Given the description of an element on the screen output the (x, y) to click on. 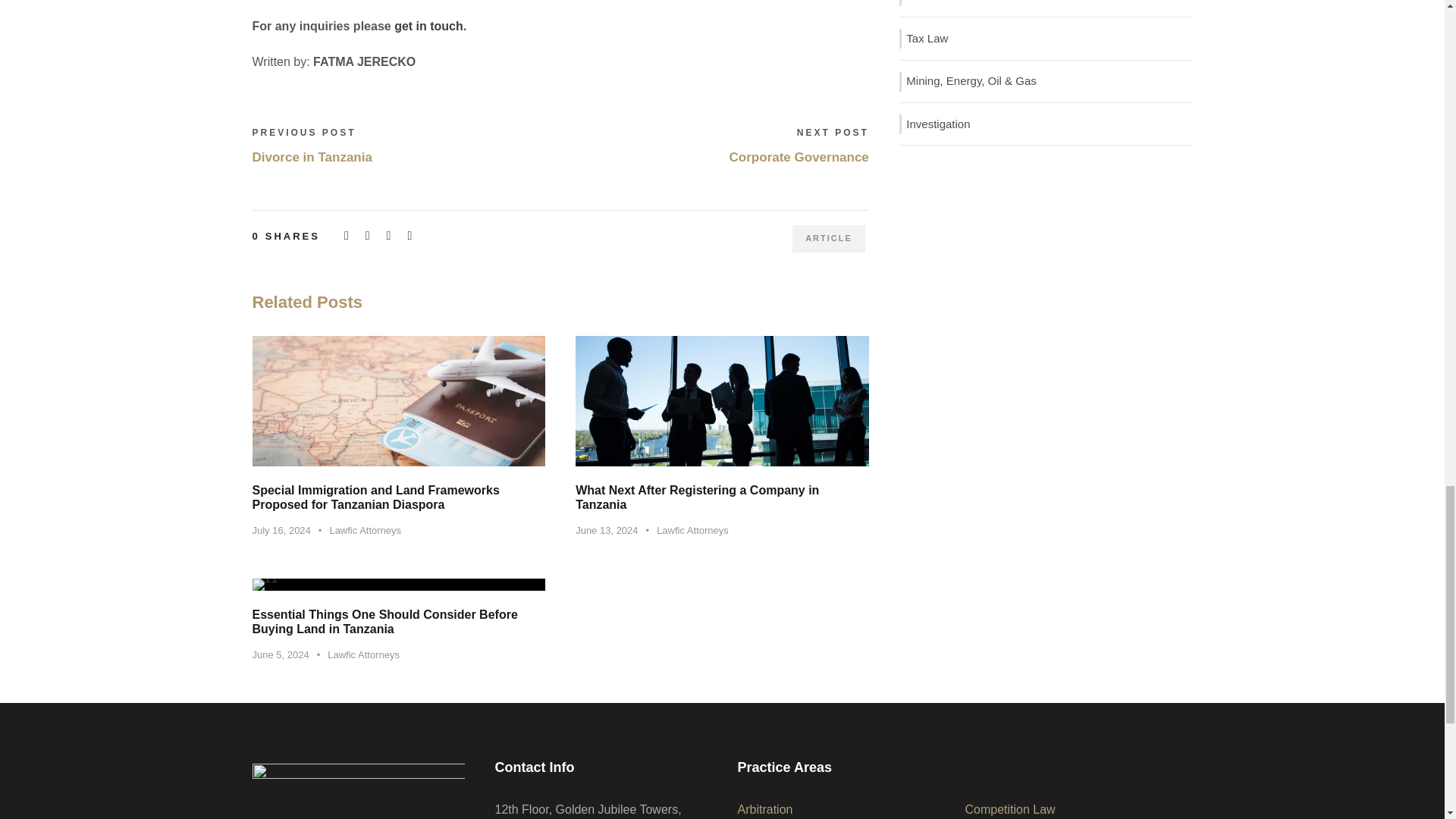
Corporate Governance (799, 156)
Divorce in Tanzania (311, 156)
get in touch (428, 25)
Posts by Lawfic Attorneys (365, 530)
Lawfic Attorneys (365, 530)
Posts by Lawfic Attorneys (692, 530)
Posts by Lawfic Attorneys (362, 654)
ARTICLE (828, 239)
July 16, 2024 (280, 530)
What-Next-After-Registering-a-Company-in-Tanzania (722, 400)
